Given the description of an element on the screen output the (x, y) to click on. 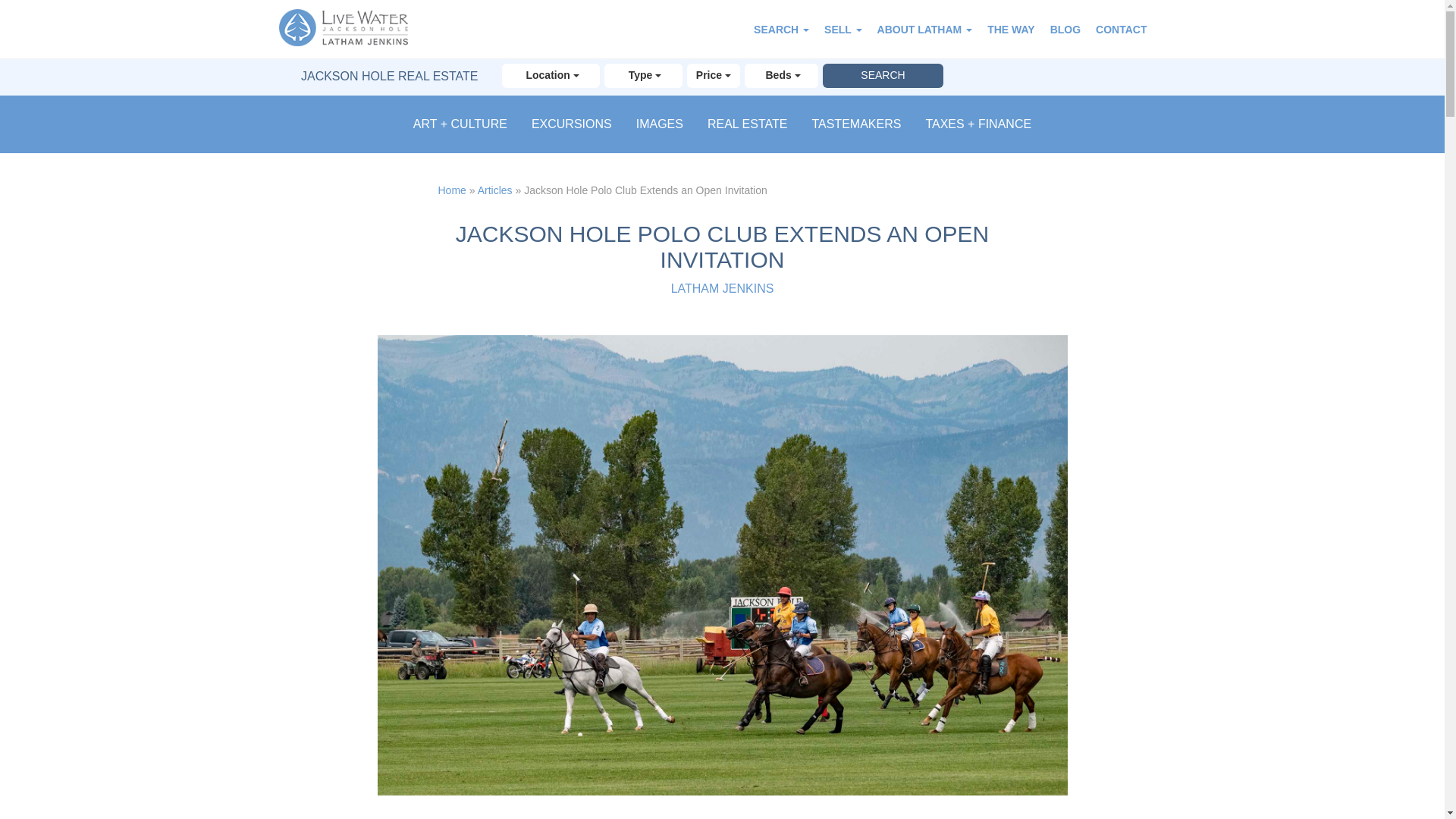
    Beds     (781, 75)
Articles (494, 190)
ABOUT LATHAM (924, 29)
THE WAY (1010, 29)
     Type      (643, 75)
Price (713, 75)
EXCURSIONS (571, 123)
SELL (842, 29)
Home (451, 190)
     Location      (550, 75)
List Your Jackson Hole Property (842, 29)
IMAGES (659, 123)
Search (882, 75)
Jackson Hole Real Estate (351, 29)
SEARCH (780, 29)
